Given the description of an element on the screen output the (x, y) to click on. 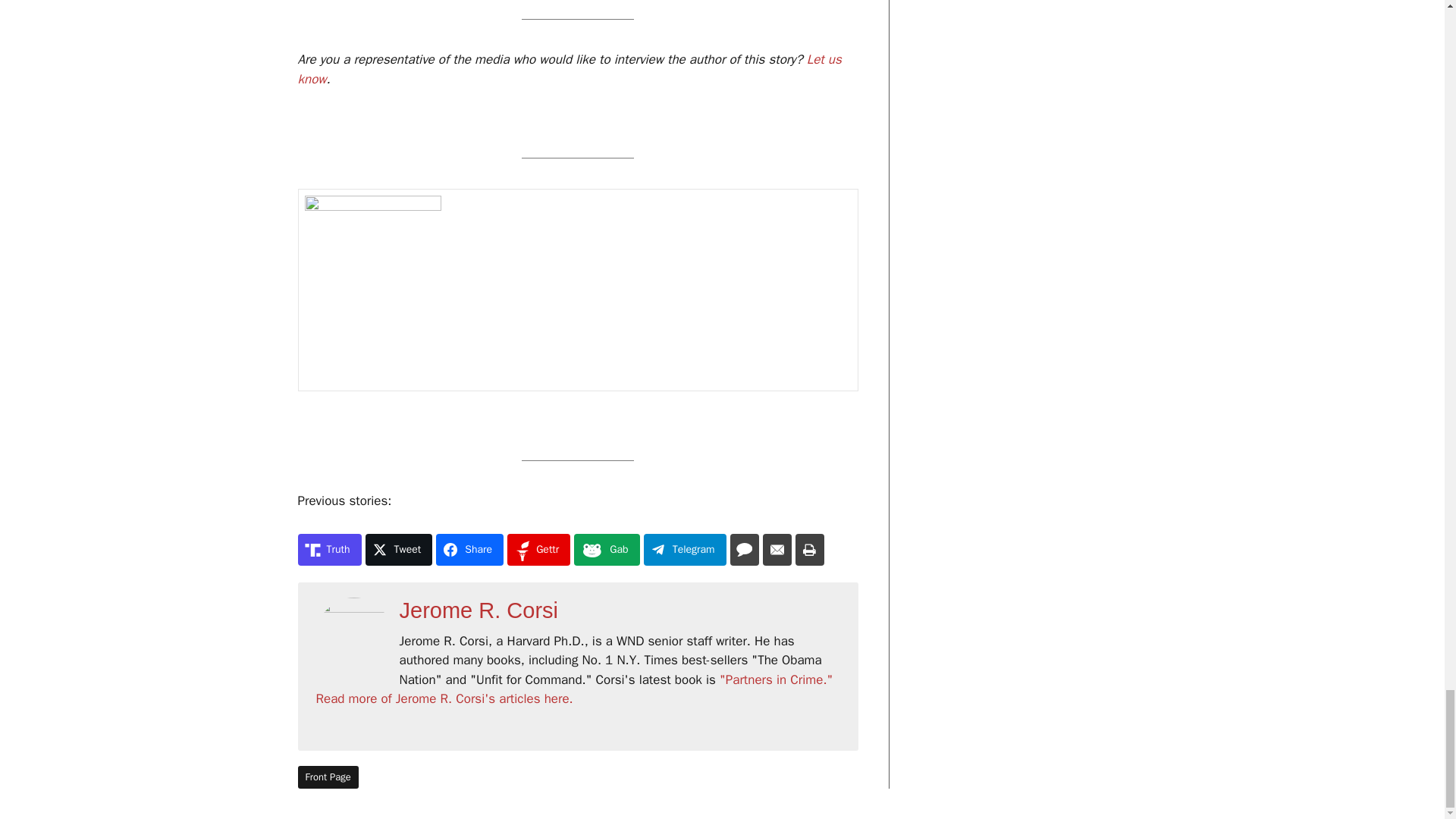
Share on Truth (329, 549)
Share on Gettr (538, 549)
Share on Gab (606, 549)
Share on Tweet (398, 549)
Share on Share (469, 549)
